Given the description of an element on the screen output the (x, y) to click on. 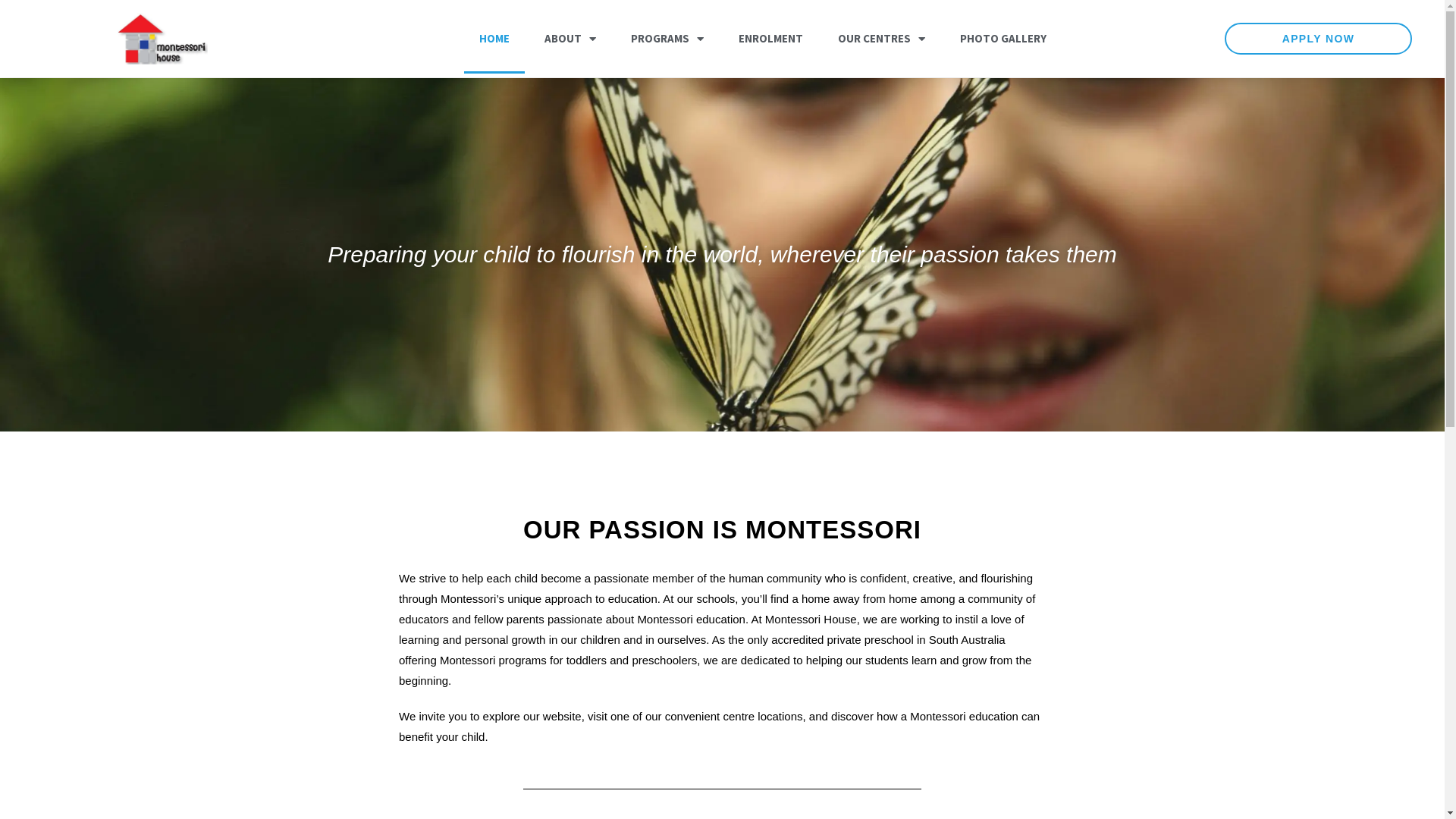
OUR CENTRES Element type: text (881, 38)
ENROLMENT Element type: text (770, 38)
APPLY NOW Element type: text (1318, 38)
PHOTO GALLERY Element type: text (1002, 38)
ABOUT Element type: text (570, 38)
HOME Element type: text (494, 38)
PROGRAMS Element type: text (666, 38)
